Given the description of an element on the screen output the (x, y) to click on. 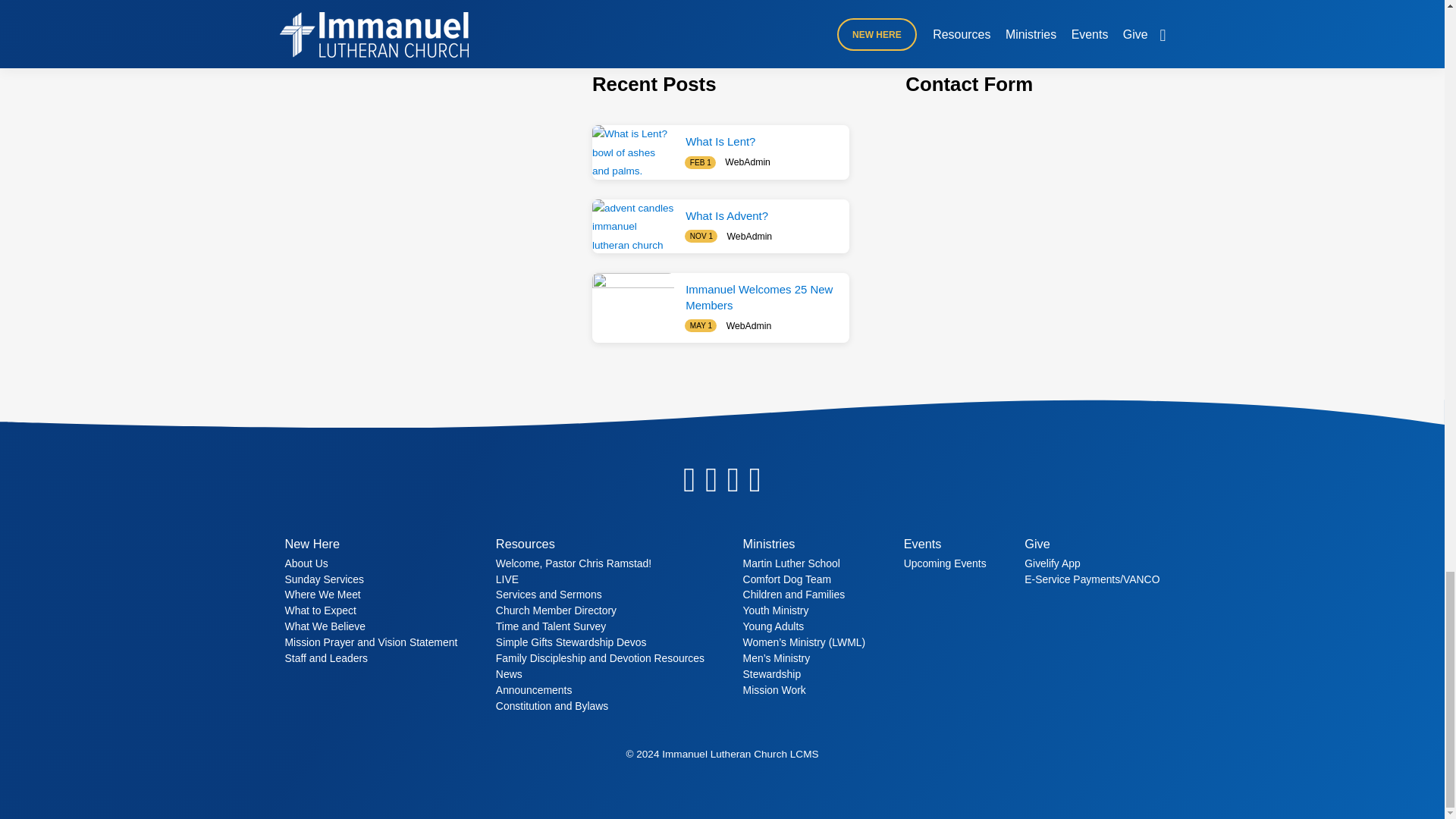
Immanuel Welcomes 25 New Members (758, 297)
What Is Advent? (726, 215)
Immanuel Welcomes 25 New Members (633, 299)
What Is Lent? (720, 141)
What Is Advent? (633, 226)
What Is Lent? (633, 152)
